Given the description of an element on the screen output the (x, y) to click on. 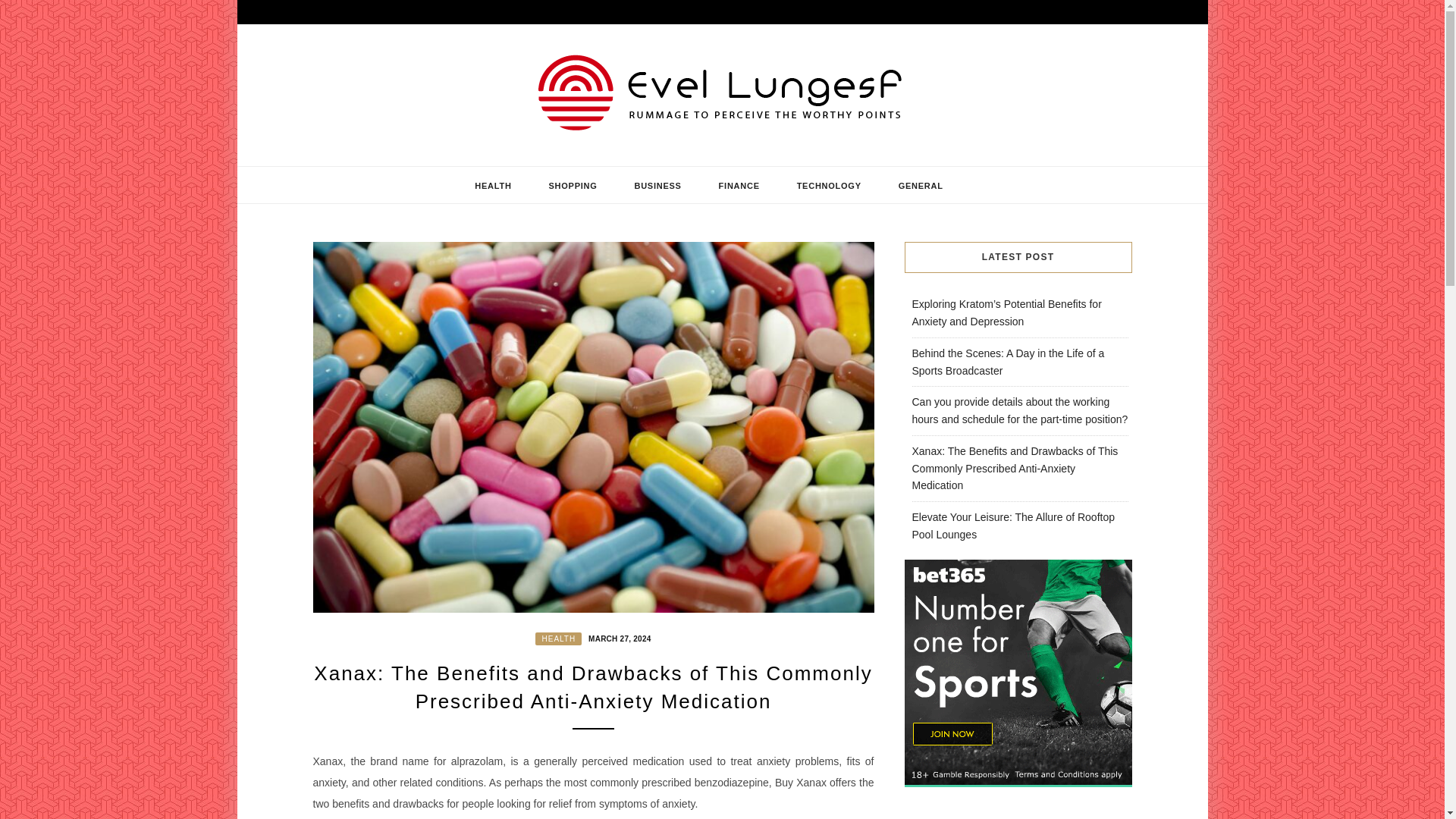
EVEL LUNGESF (434, 159)
HEALTH (492, 185)
HEALTH (557, 638)
SHOPPING (571, 185)
FINANCE (738, 185)
GENERAL (921, 185)
TECHNOLOGY (828, 185)
Behind the Scenes: A Day in the Life of a Sports Broadcaster (1007, 361)
Elevate Your Leisure: The Allure of Rooftop Pool Lounges (1012, 525)
BUSINESS (657, 185)
MARCH 27, 2024 (617, 637)
